Given the description of an element on the screen output the (x, y) to click on. 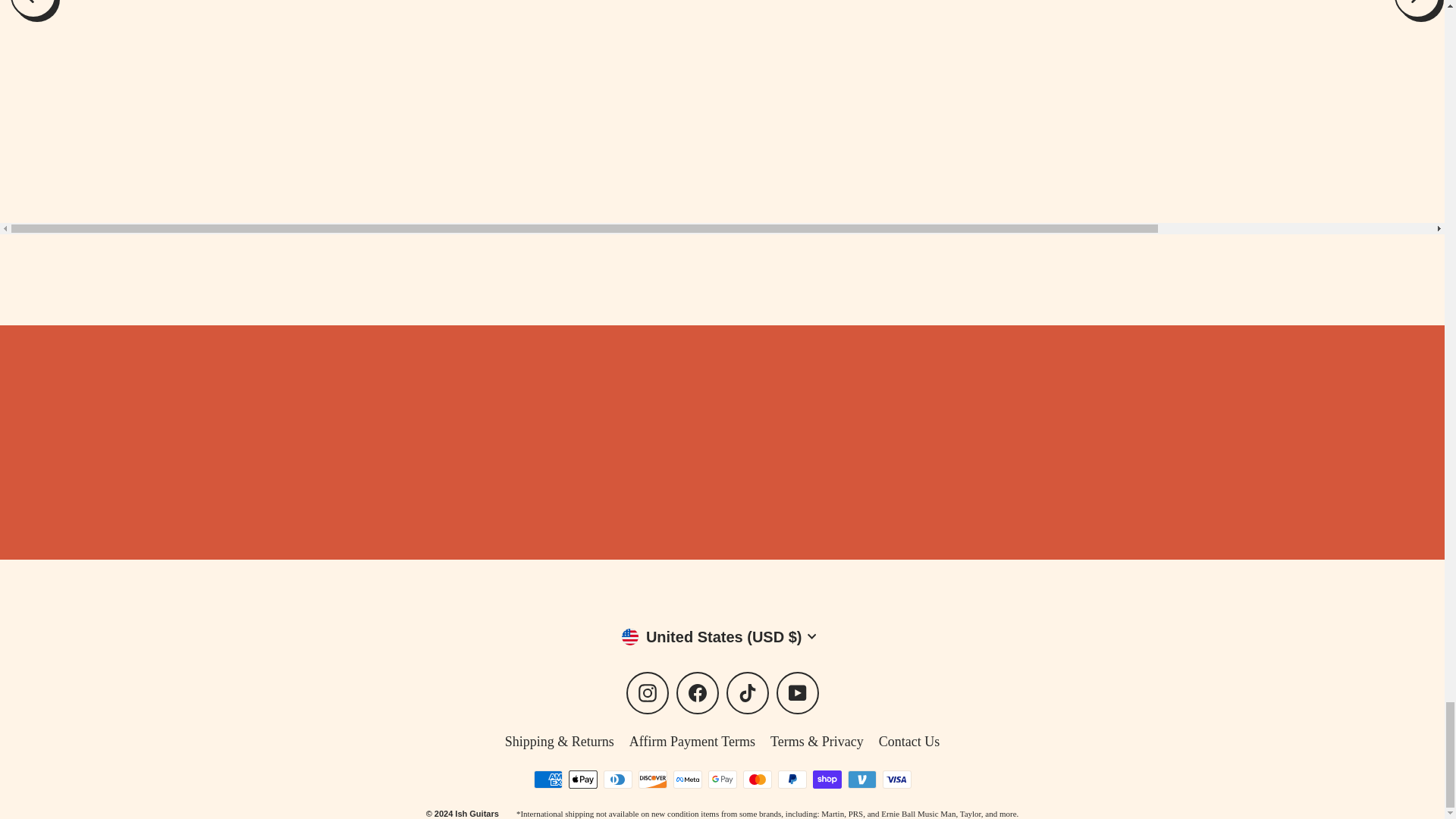
Ish Guitars on Facebook (698, 692)
Ish Guitars on TikTok (747, 692)
Ish Guitars on Instagram (647, 692)
Ish Guitars on YouTube (797, 692)
